Given the description of an element on the screen output the (x, y) to click on. 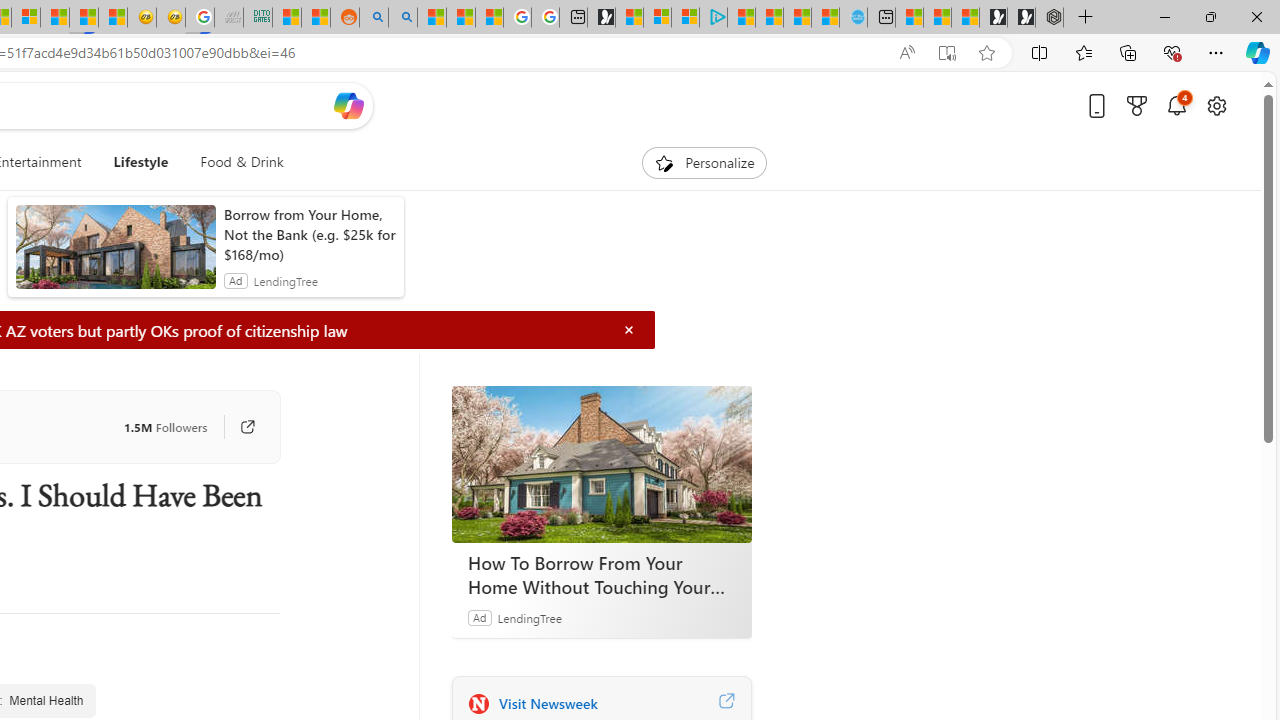
DITOGAMES AG Imprint (258, 17)
